Given the description of an element on the screen output the (x, y) to click on. 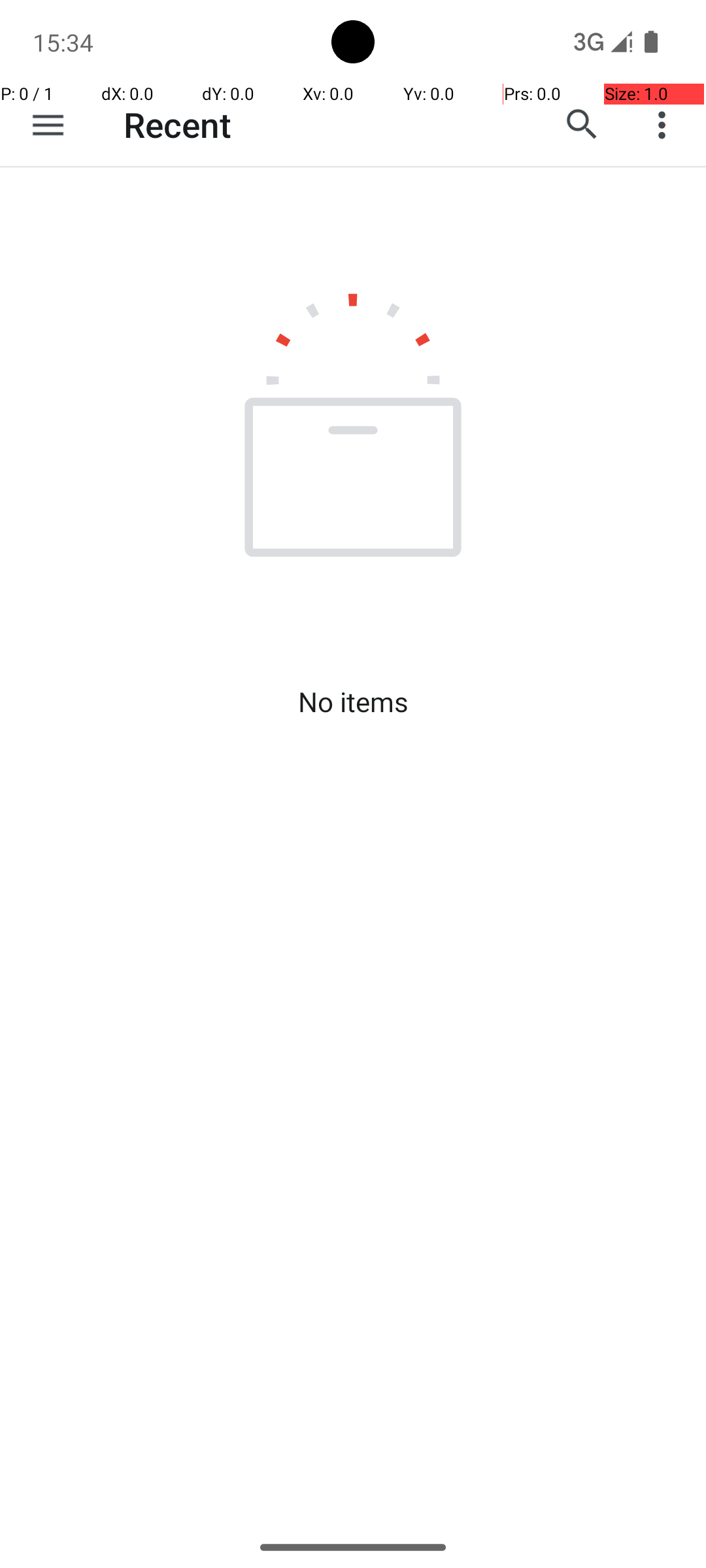
Recent files Element type: android.widget.TextView (311, 125)
